Given the description of an element on the screen output the (x, y) to click on. 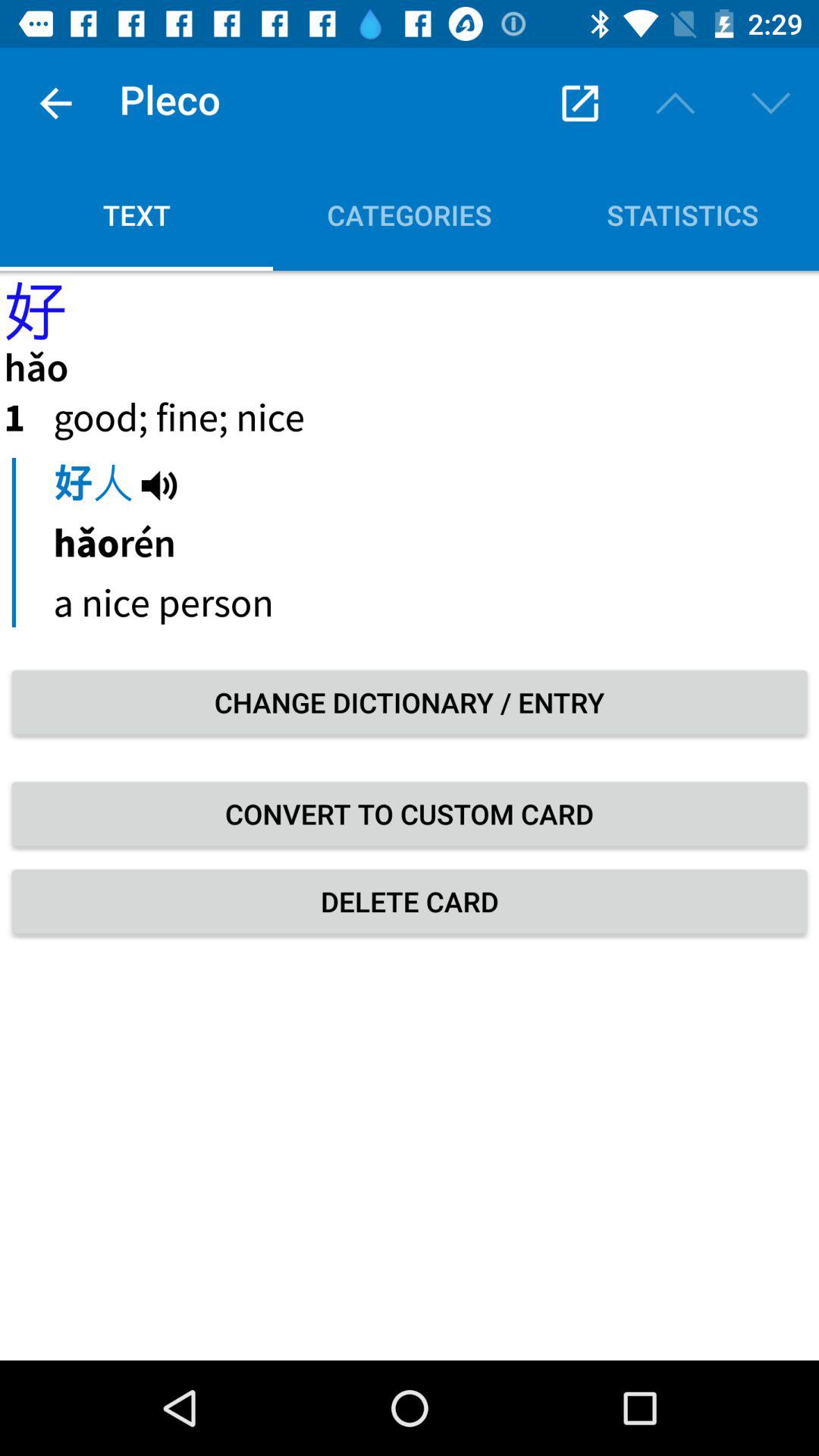
swipe to the categories item (409, 214)
